Given the description of an element on the screen output the (x, y) to click on. 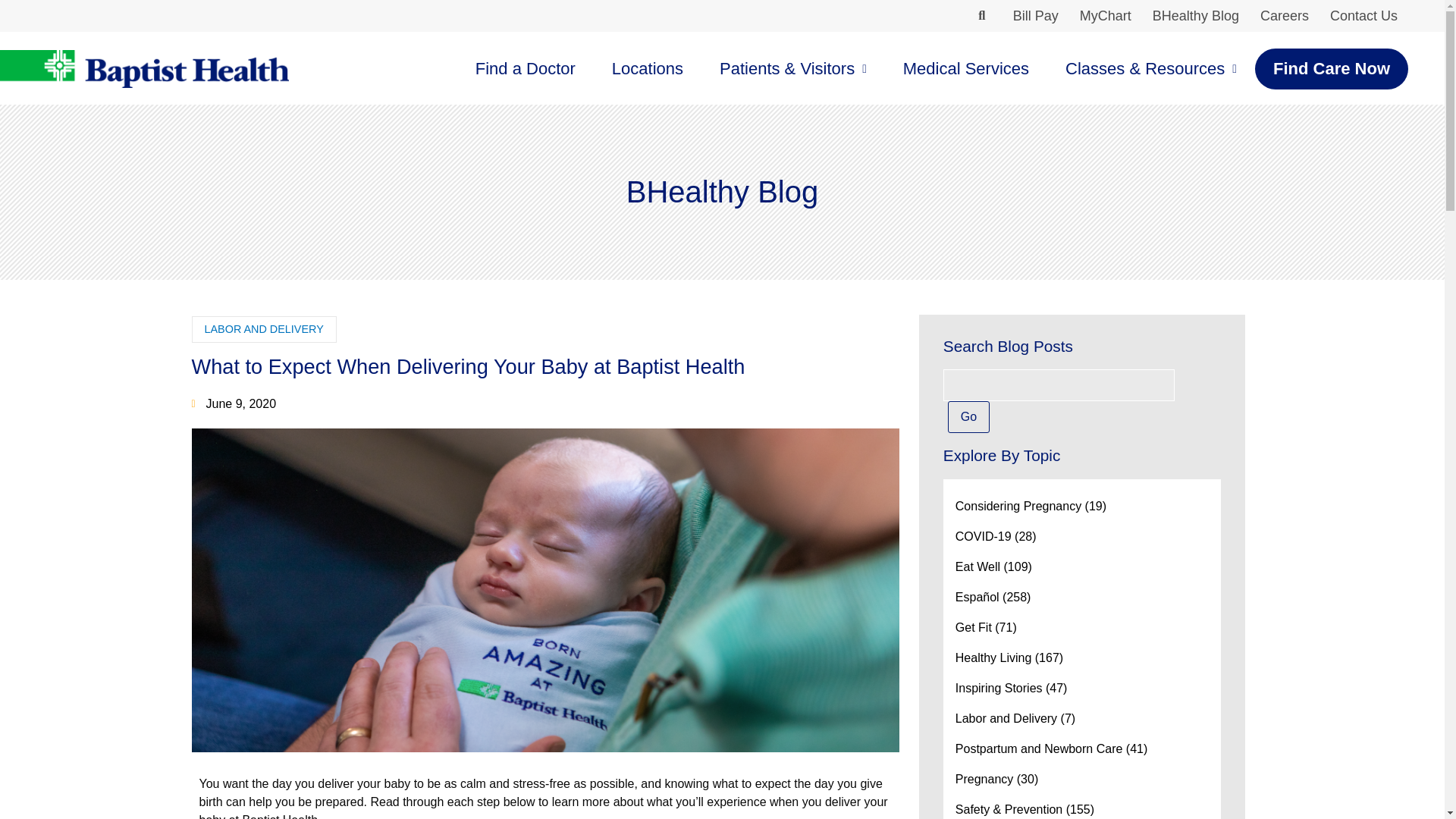
Medical Services (965, 68)
MyChart (1104, 15)
Bill Pay (1035, 15)
Go (968, 417)
Go (968, 417)
Contact Us (1363, 15)
Locations (647, 68)
Careers (1284, 15)
Find a Doctor (525, 68)
Find Care Now (1331, 68)
BHealthy Blog (1195, 15)
